Given the description of an element on the screen output the (x, y) to click on. 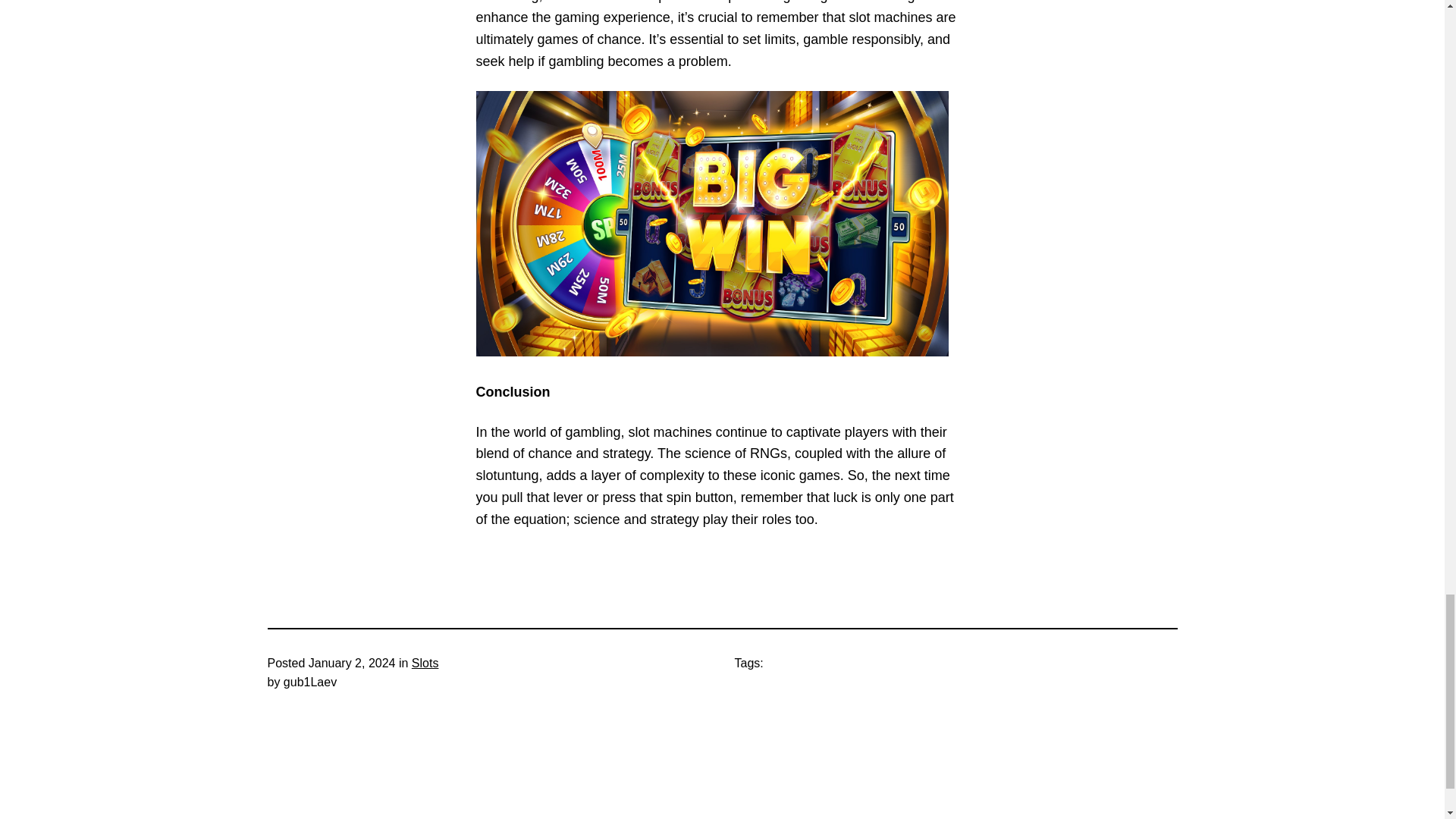
Slots (425, 662)
